Given the description of an element on the screen output the (x, y) to click on. 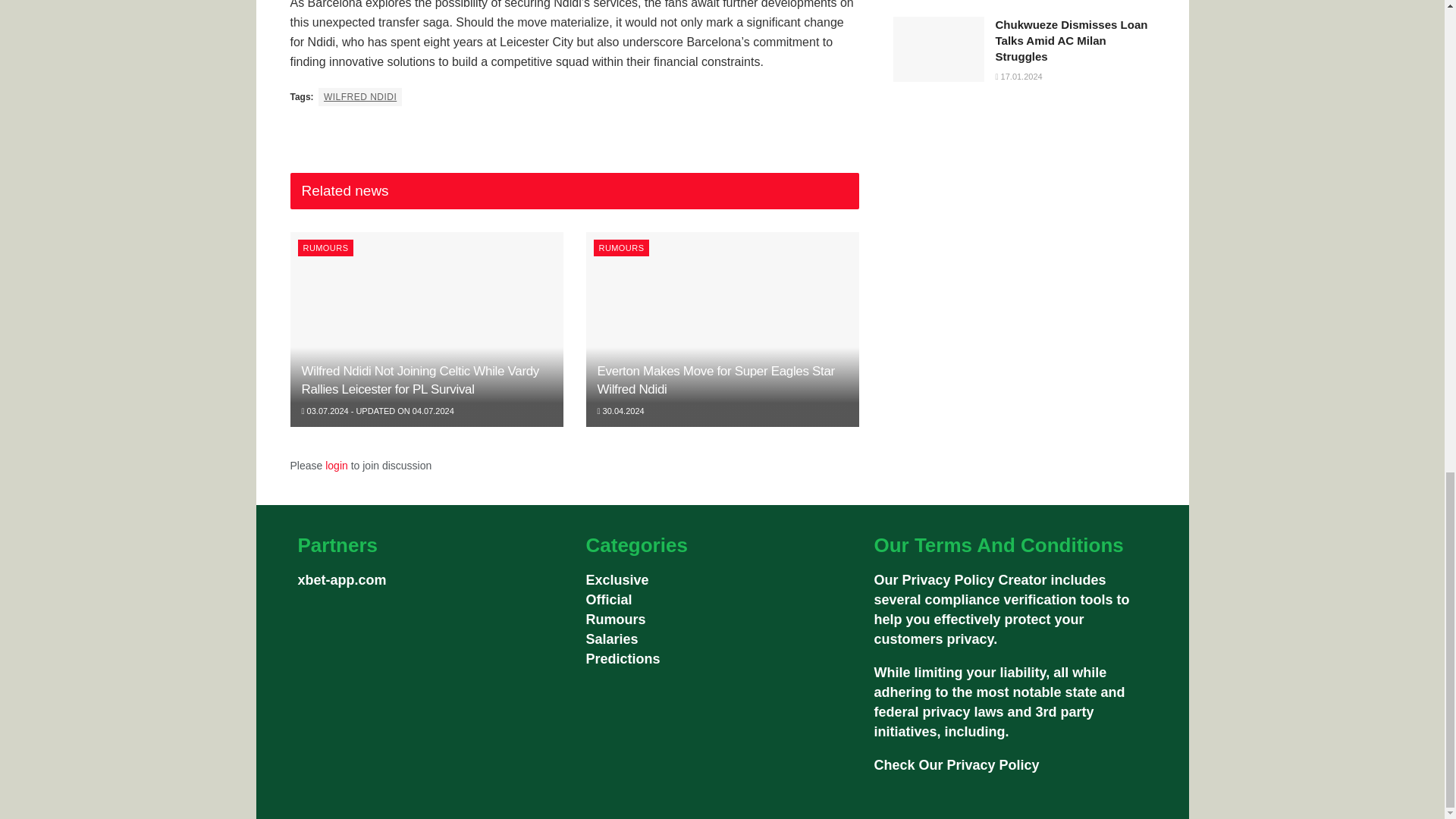
WILFRED NDIDI (359, 96)
RUMOURS (325, 247)
